Given the description of an element on the screen output the (x, y) to click on. 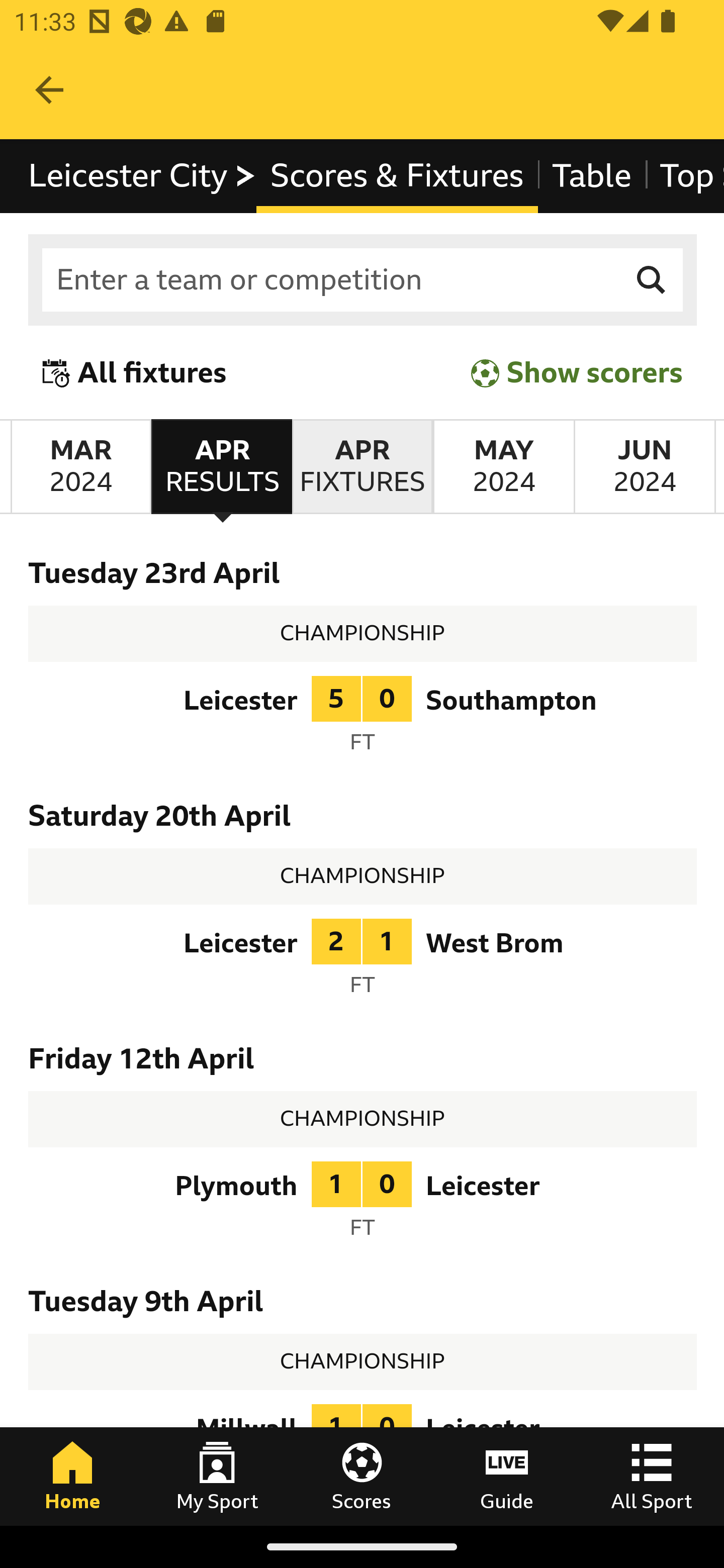
Navigate up (49, 90)
Leicester City  (142, 176)
Scores & Fixtures (396, 176)
Table (591, 176)
Top Scorers (684, 176)
Search (651, 280)
All fixtures (134, 373)
Show scorers (576, 373)
March2024 March 2024 (80, 467)
AprilRESULTS, Selected April RESULTS , Selected (221, 467)
AprilFIXTURES April FIXTURES (361, 467)
May2024 May 2024 (502, 467)
June2024 June 2024 (644, 467)
68508399 Leicester City 5 Southampton 0 Full Time (362, 719)
My Sport (216, 1475)
Scores (361, 1475)
Guide (506, 1475)
All Sport (651, 1475)
